Given the description of an element on the screen output the (x, y) to click on. 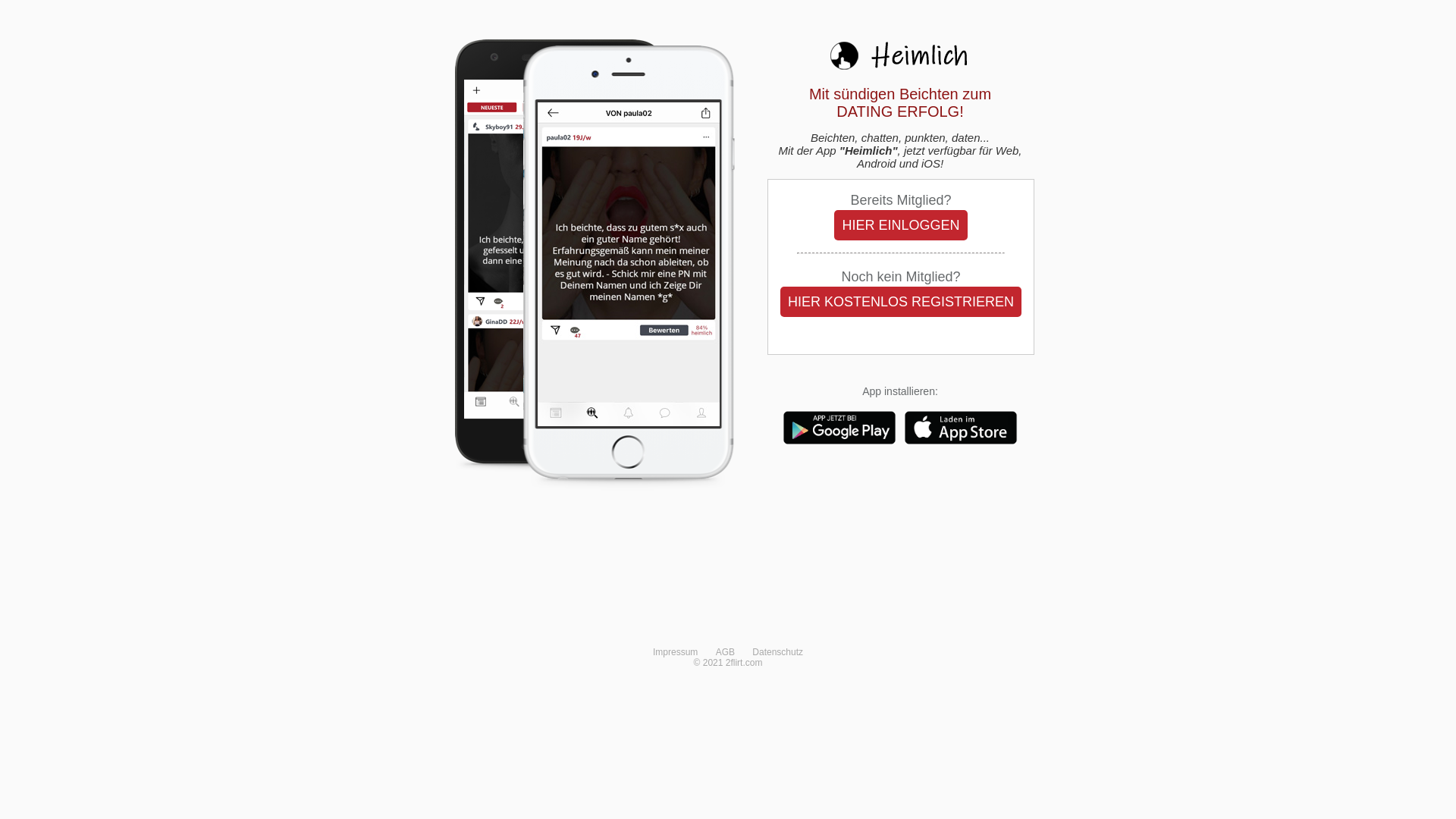
Impressum Element type: text (675, 652)
AGB Element type: text (725, 652)
Datenschutz Element type: text (777, 652)
HIER KOSTENLOS REGISTRIEREN Element type: text (900, 301)
HIER EINLOGGEN Element type: text (900, 224)
